Given the description of an element on the screen output the (x, y) to click on. 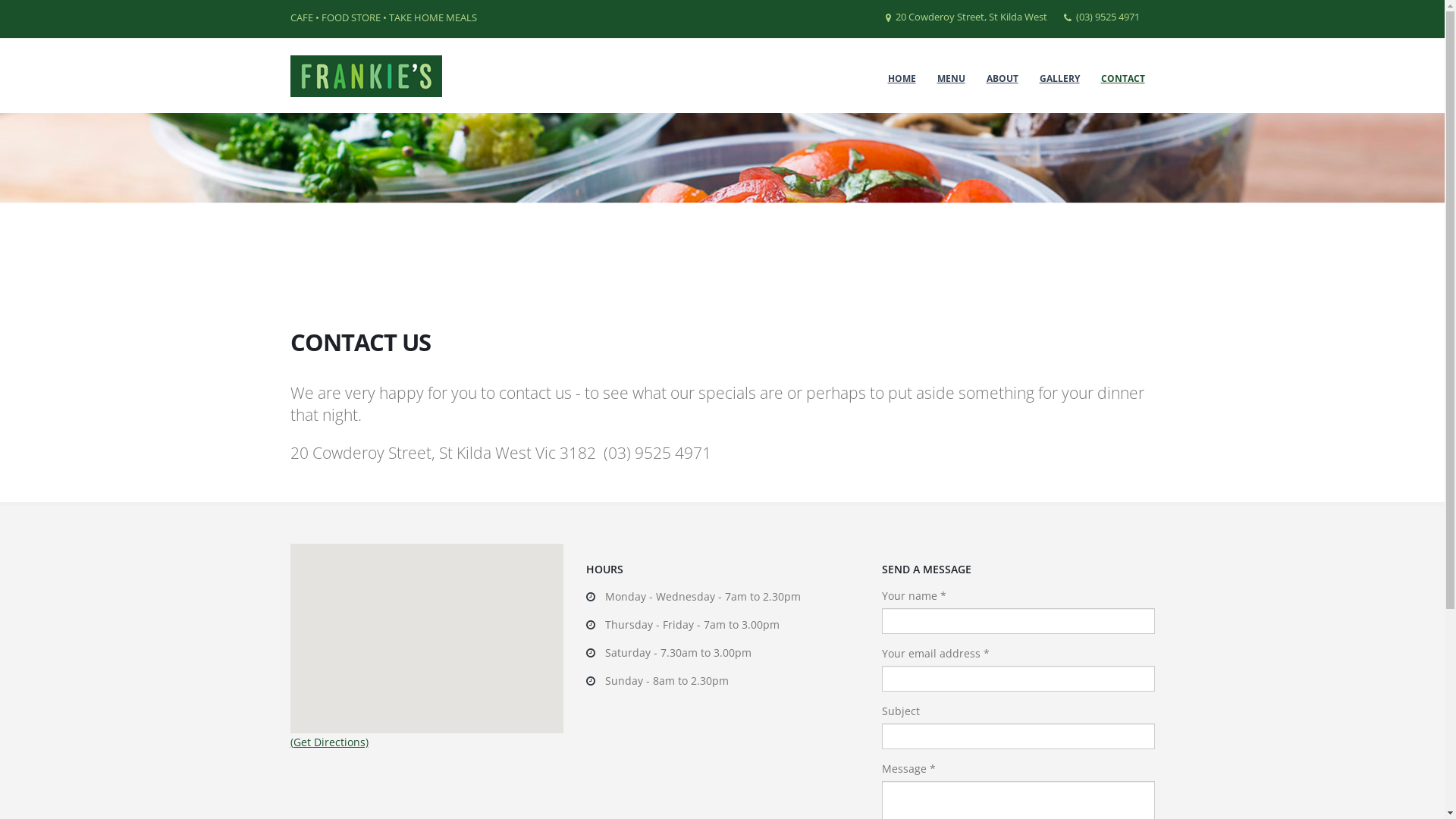
MENU Element type: text (950, 78)
GALLERY Element type: text (1059, 78)
ABOUT Element type: text (1002, 78)
CONTACT Element type: text (1122, 78)
HOME Element type: text (901, 78)
(Get Directions) Element type: text (328, 741)
